Given the description of an element on the screen output the (x, y) to click on. 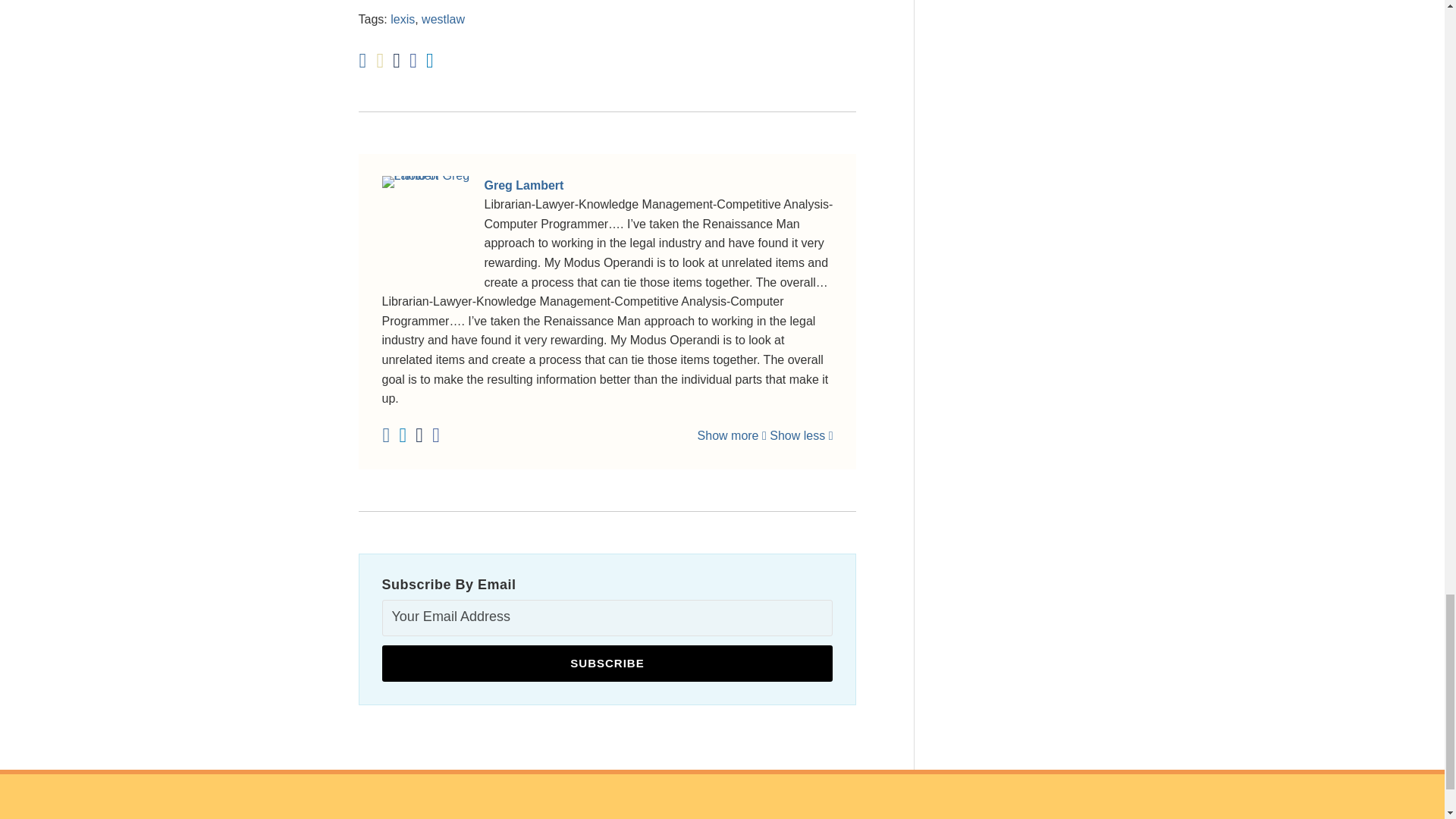
Greg Lambert (606, 185)
Subscribe (606, 663)
Subscribe (606, 663)
Show more (732, 435)
westlaw (443, 19)
Show less (801, 435)
lexis (402, 19)
